Given the description of an element on the screen output the (x, y) to click on. 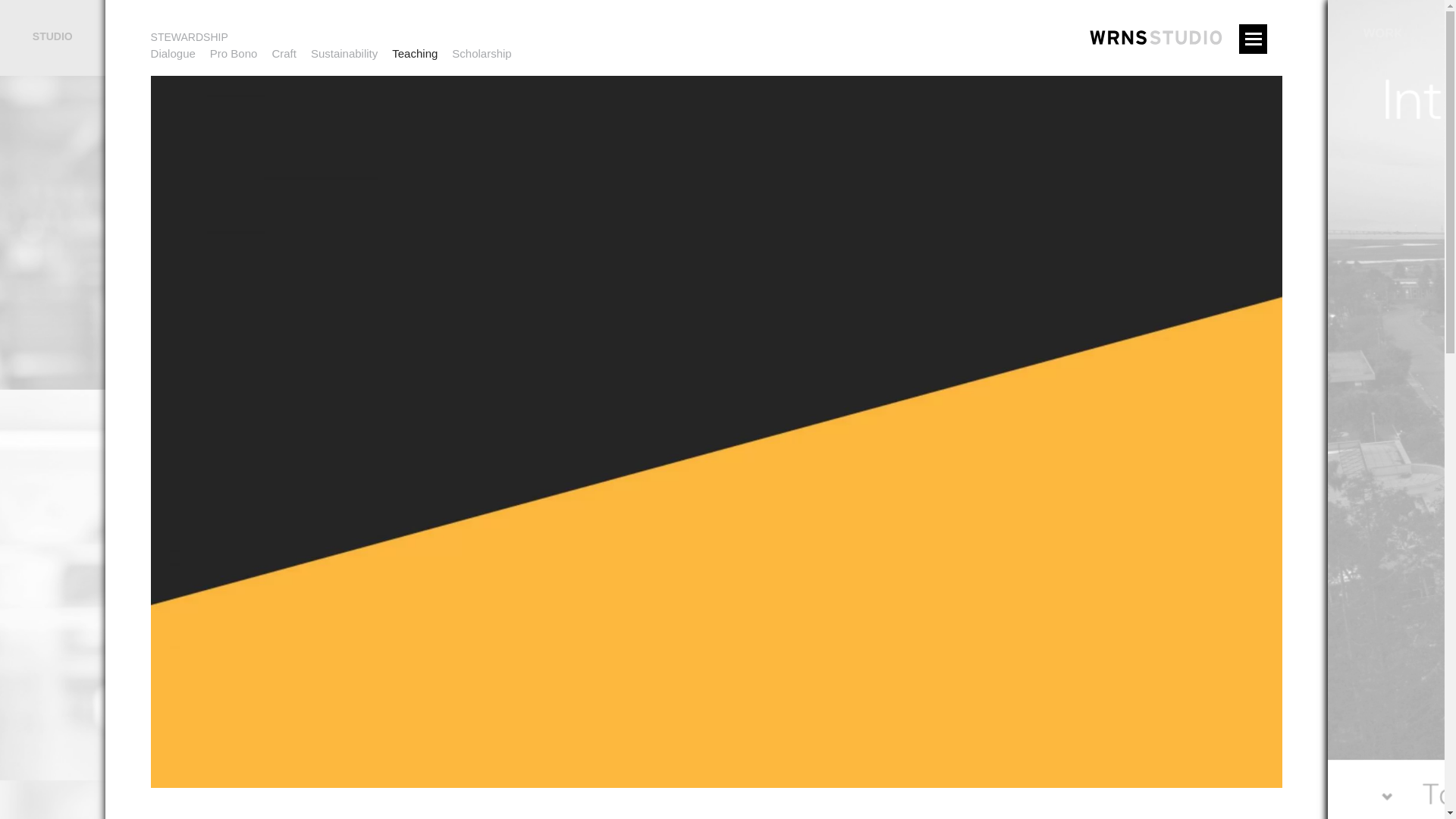
WRNS Studio (930, 54)
Pro Bono (233, 53)
STEWARDSHIP (338, 37)
Sustainability (344, 53)
Dialogue (173, 53)
Scholarship (481, 53)
Craft (283, 53)
Teaching (414, 53)
